Given the description of an element on the screen output the (x, y) to click on. 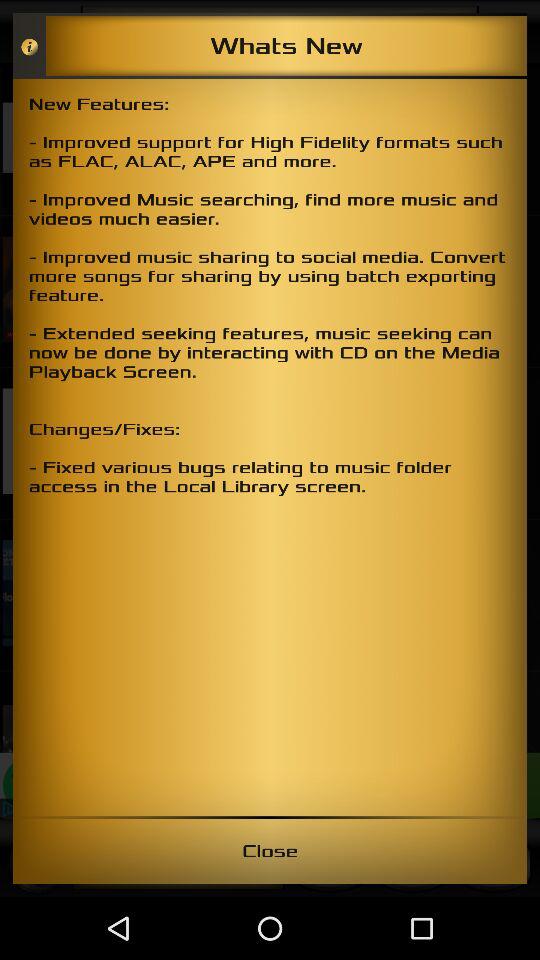
select new features improved (269, 447)
